Given the description of an element on the screen output the (x, y) to click on. 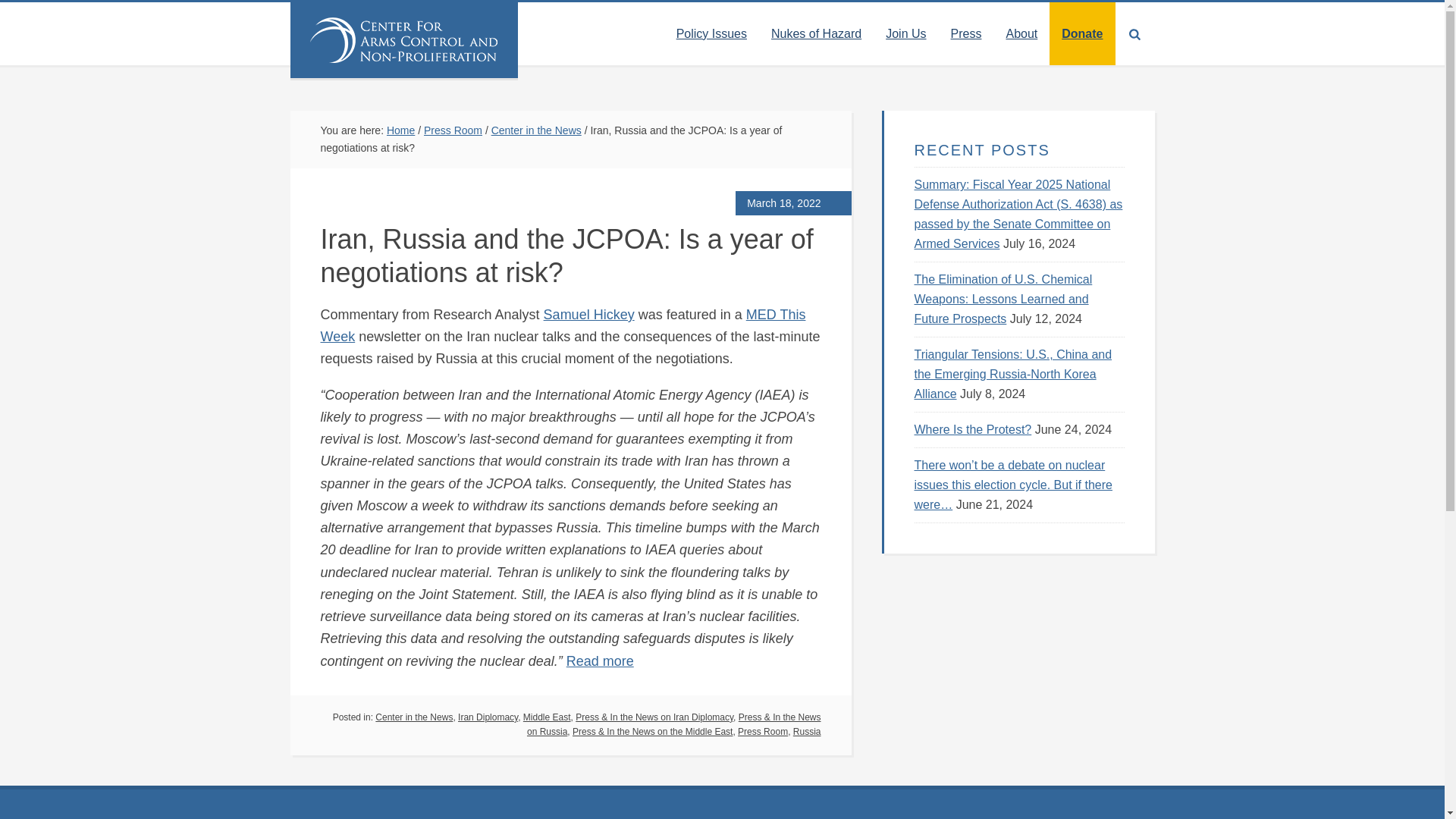
Middle East (546, 716)
CENTER FOR ARMS CONTROL AND NON-PROLIFERATION (402, 39)
Nukes of Hazard (815, 33)
About (1020, 33)
Press Room (452, 130)
Iran Diplomacy (488, 716)
Donate (1082, 33)
Join Us (905, 33)
Center in the News (413, 716)
MED This Week (562, 325)
Read more (599, 661)
Policy Issues (710, 33)
Center in the News (536, 130)
Home (400, 130)
